Given the description of an element on the screen output the (x, y) to click on. 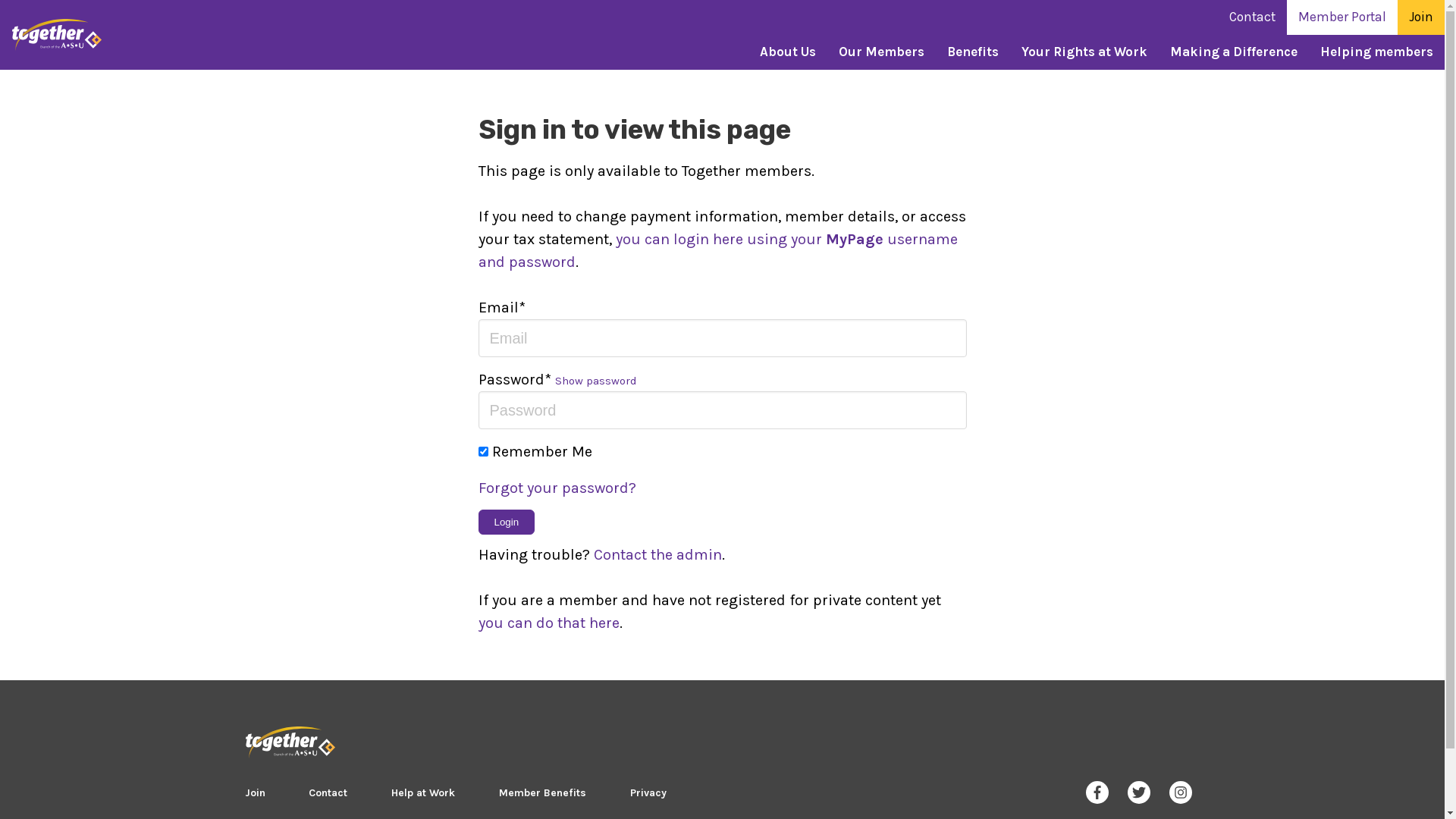
you can login here using your MyPage username and password Element type: text (717, 250)
Our Members Element type: text (881, 51)
Contact Element type: text (327, 792)
you can do that here Element type: text (547, 622)
Together branch of the ASU  Element type: hover (289, 742)
Join Element type: text (1420, 17)
Your Rights at Work Element type: text (1084, 51)
Member Benefits Element type: text (542, 792)
Forgot your password? Element type: text (721, 487)
Making a Difference Element type: text (1233, 51)
Login Element type: text (505, 521)
Benefits Element type: text (972, 51)
About Us Element type: text (787, 51)
Together branch of the ASU  Element type: hover (56, 34)
Show password Element type: text (596, 380)
Member Portal Element type: text (1341, 17)
Contact Element type: text (1251, 17)
Contact the admin Element type: text (657, 554)
Helping members Element type: text (1376, 51)
Privacy Element type: text (648, 792)
Help at Work Element type: text (423, 792)
Join Element type: text (254, 792)
